Given the description of an element on the screen output the (x, y) to click on. 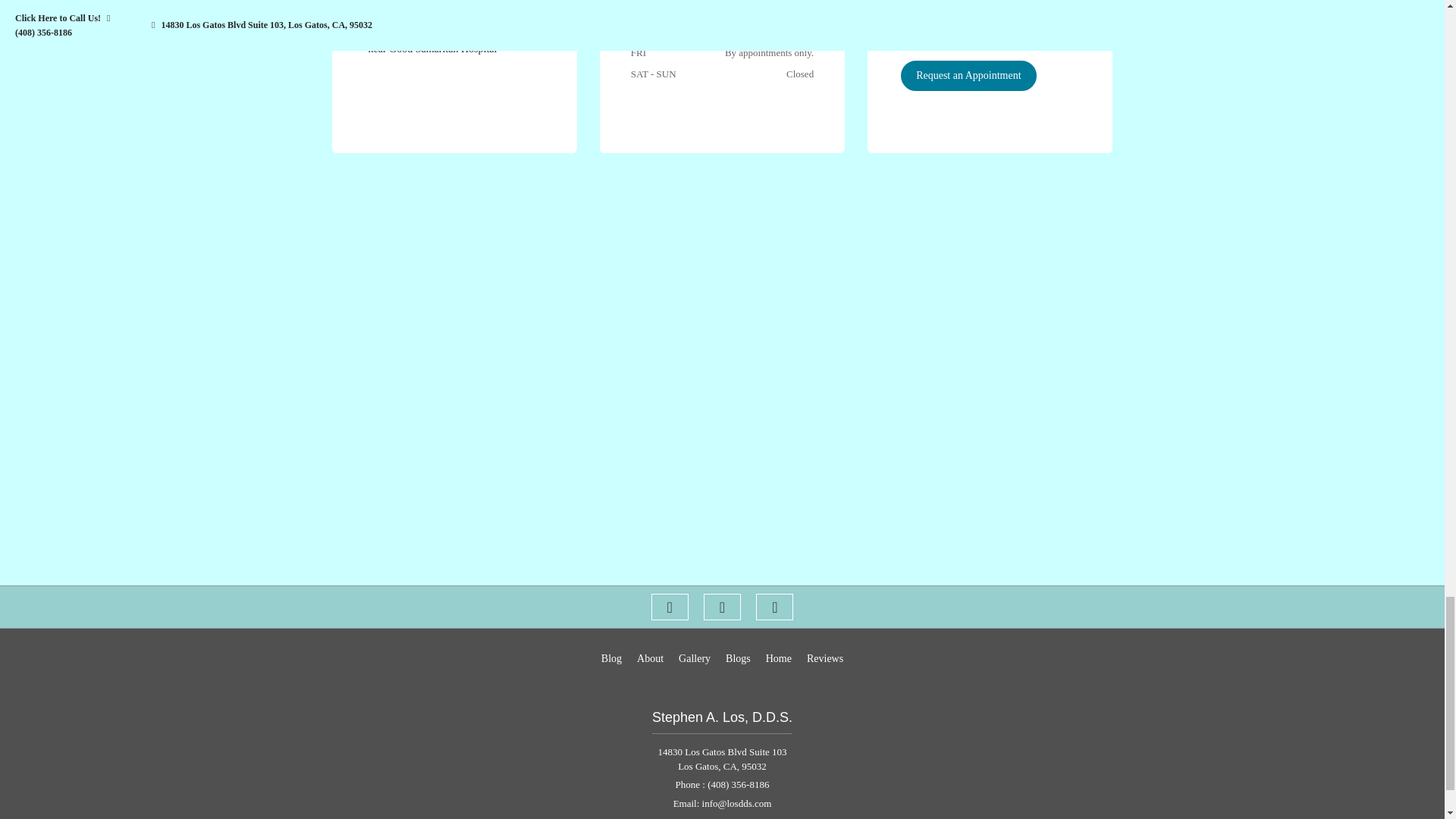
Reviews (824, 658)
Blogs (738, 658)
Home (778, 658)
Blog (611, 658)
About (650, 658)
Gallery (694, 658)
